Given the description of an element on the screen output the (x, y) to click on. 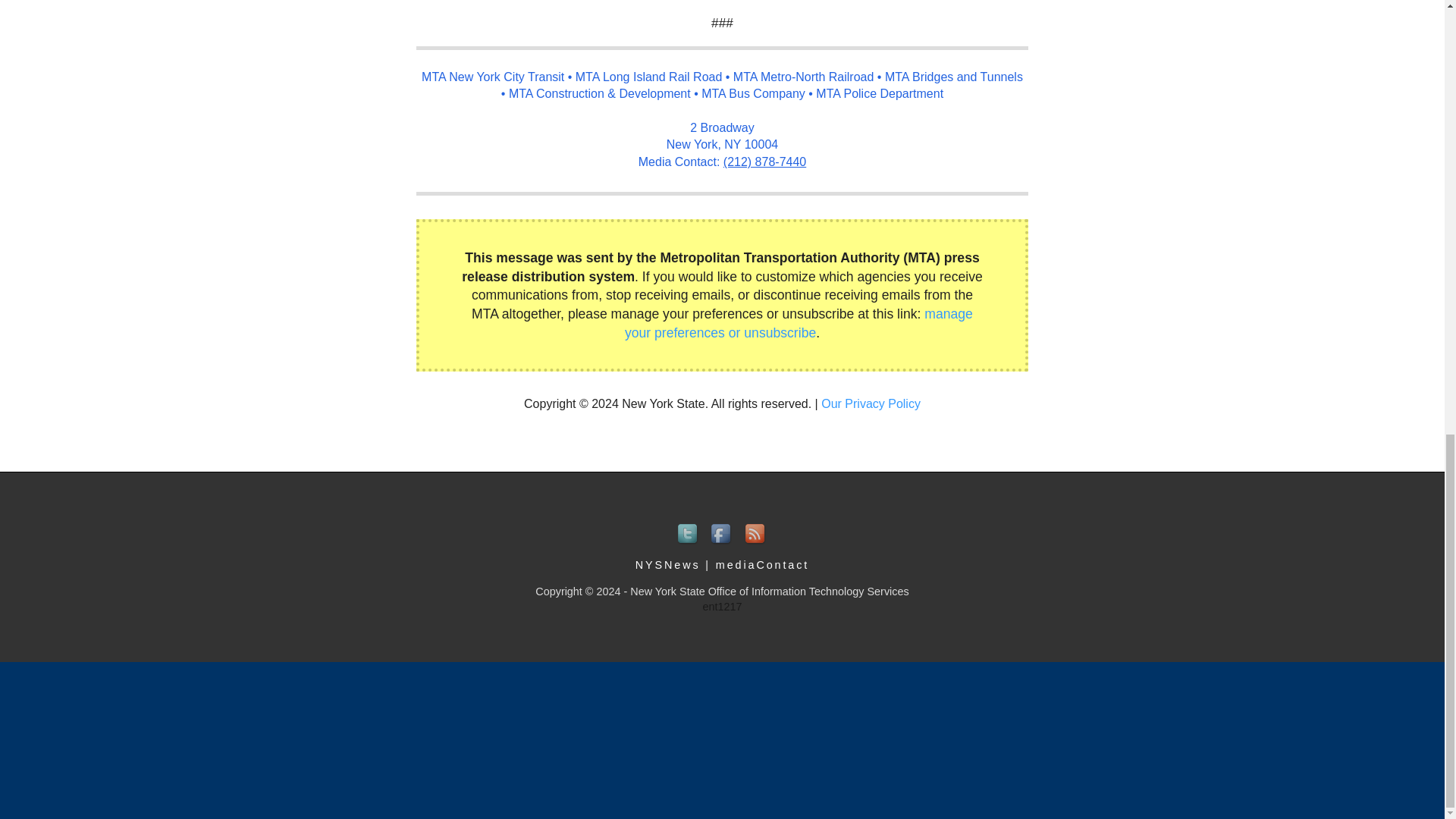
manage your preferences or unsubscribe (798, 323)
Our Privacy Policy (870, 403)
mediaContact (762, 564)
NYSNews (667, 564)
